Given the description of an element on the screen output the (x, y) to click on. 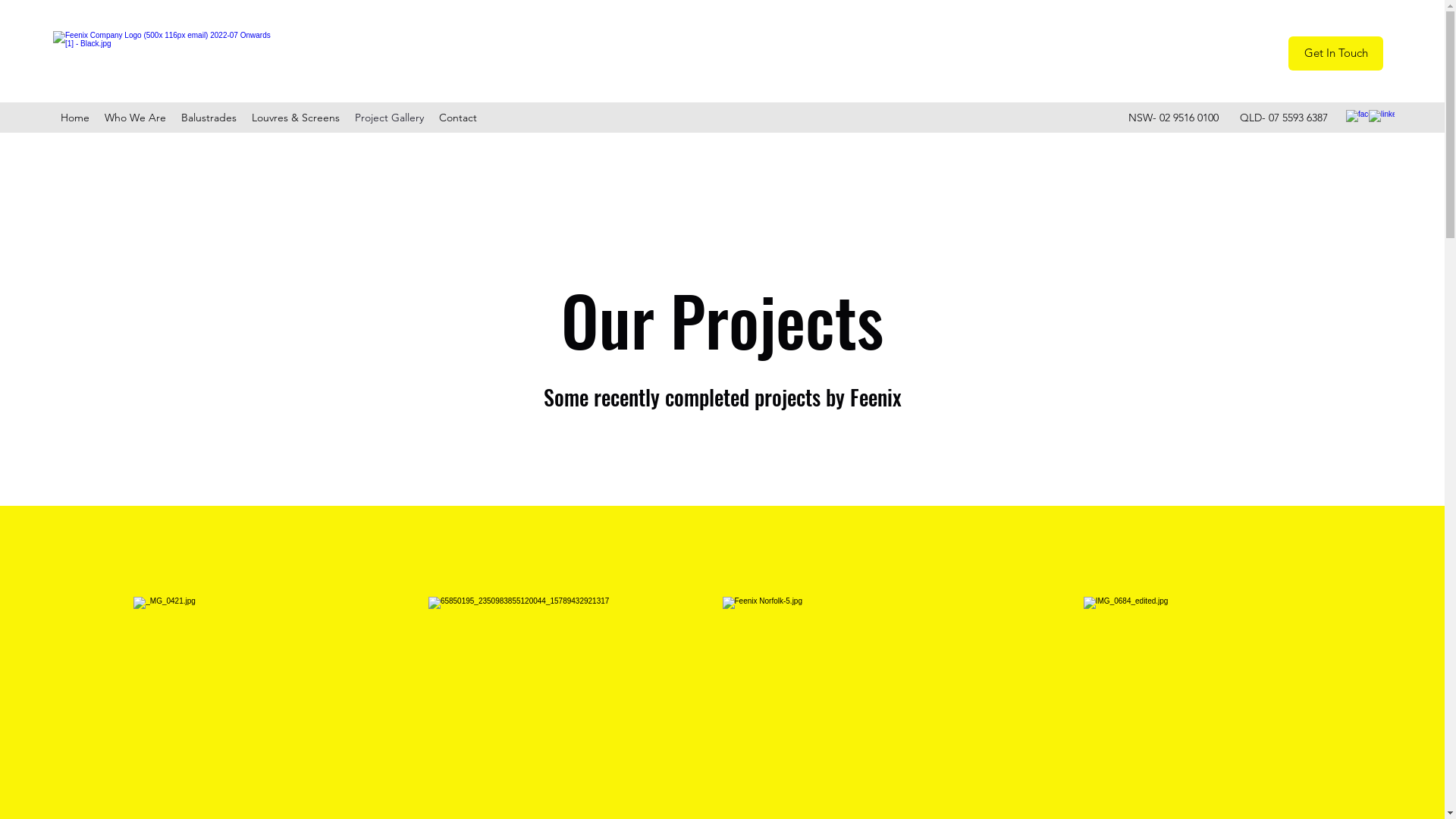
Who We Are Element type: text (135, 117)
Louvres & Screens Element type: text (295, 117)
Get In Touch Element type: text (1335, 53)
Balustrades Element type: text (208, 117)
Project Gallery Element type: text (389, 117)
Home Element type: text (75, 117)
Contact Element type: text (457, 117)
